Given the description of an element on the screen output the (x, y) to click on. 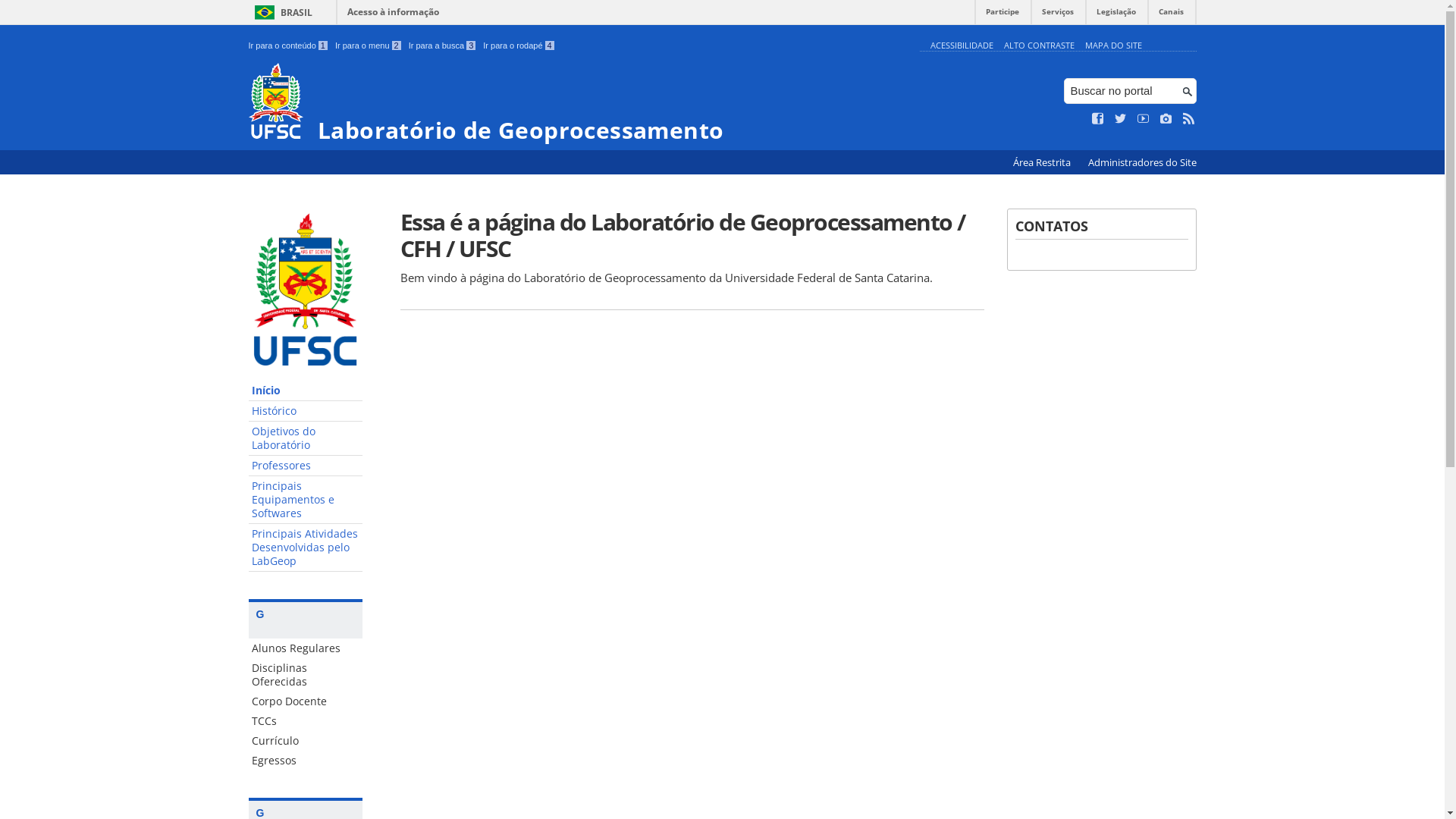
ACESSIBILIDADE Element type: text (960, 44)
ALTO CONTRASTE Element type: text (1039, 44)
Egressos Element type: text (305, 760)
Curta no Facebook Element type: hover (1098, 118)
Ir para o menu 2 Element type: text (368, 45)
Disciplinas Oferecidas Element type: text (305, 674)
Administradores do Site Element type: text (1141, 162)
Professores Element type: text (305, 465)
Alunos Regulares Element type: text (305, 648)
Participe Element type: text (1002, 15)
Principais Equipamentos e Softwares Element type: text (305, 500)
Siga no Twitter Element type: hover (1120, 118)
Veja no Instagram Element type: hover (1166, 118)
TCCs Element type: text (305, 721)
BRASIL Element type: text (280, 12)
Corpo Docente Element type: text (305, 701)
MAPA DO SITE Element type: text (1112, 44)
Canais Element type: text (1171, 15)
Ir para a busca 3 Element type: text (442, 45)
Principais Atividades Desenvolvidas pelo LabGeop Element type: text (305, 547)
